Given the description of an element on the screen output the (x, y) to click on. 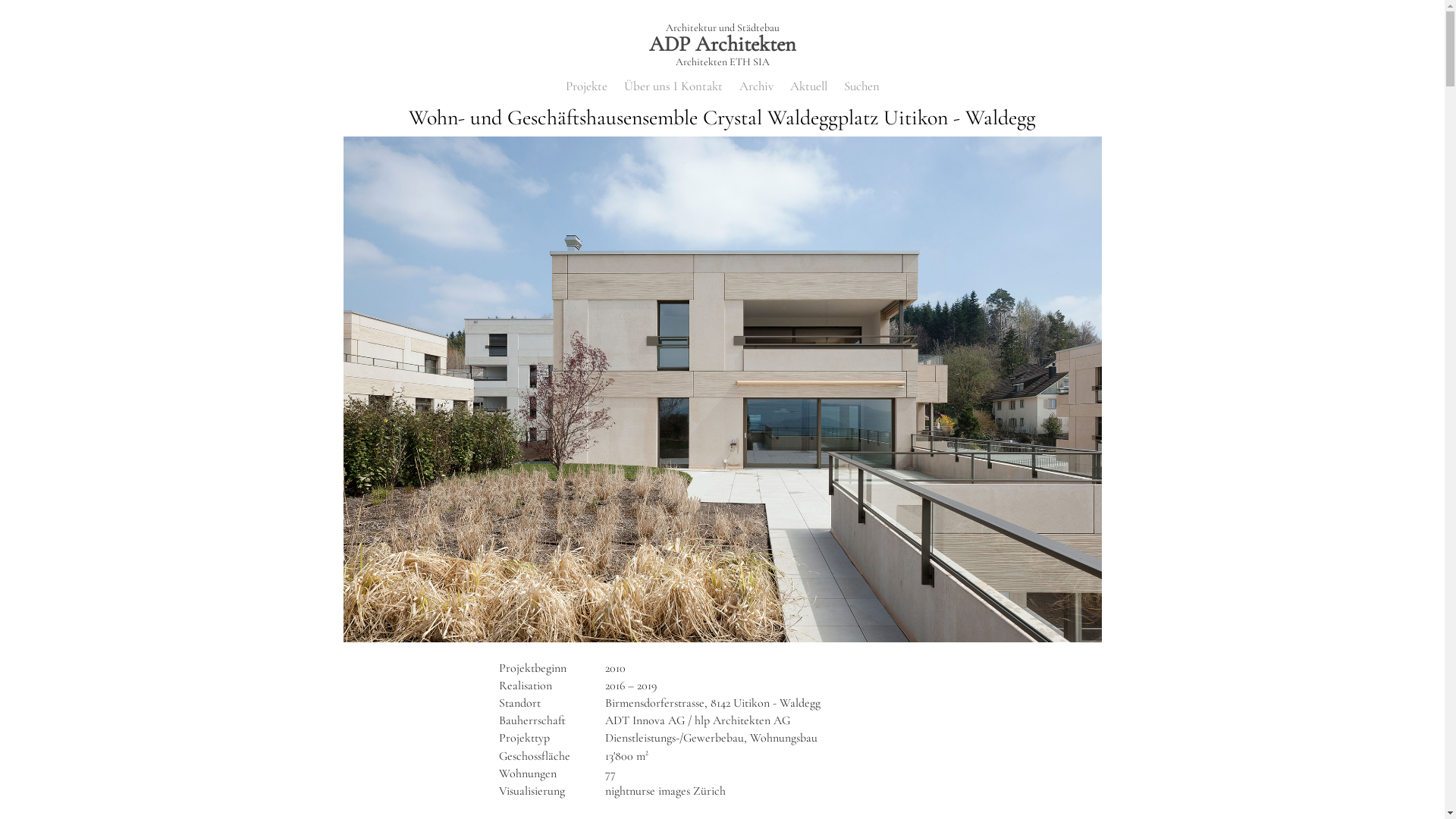
Suchen Element type: text (860, 86)
Projekte Element type: text (586, 86)
Archiv Element type: text (755, 86)
ADP Architekten Element type: text (721, 43)
Aktuell Element type: text (808, 86)
